Given the description of an element on the screen output the (x, y) to click on. 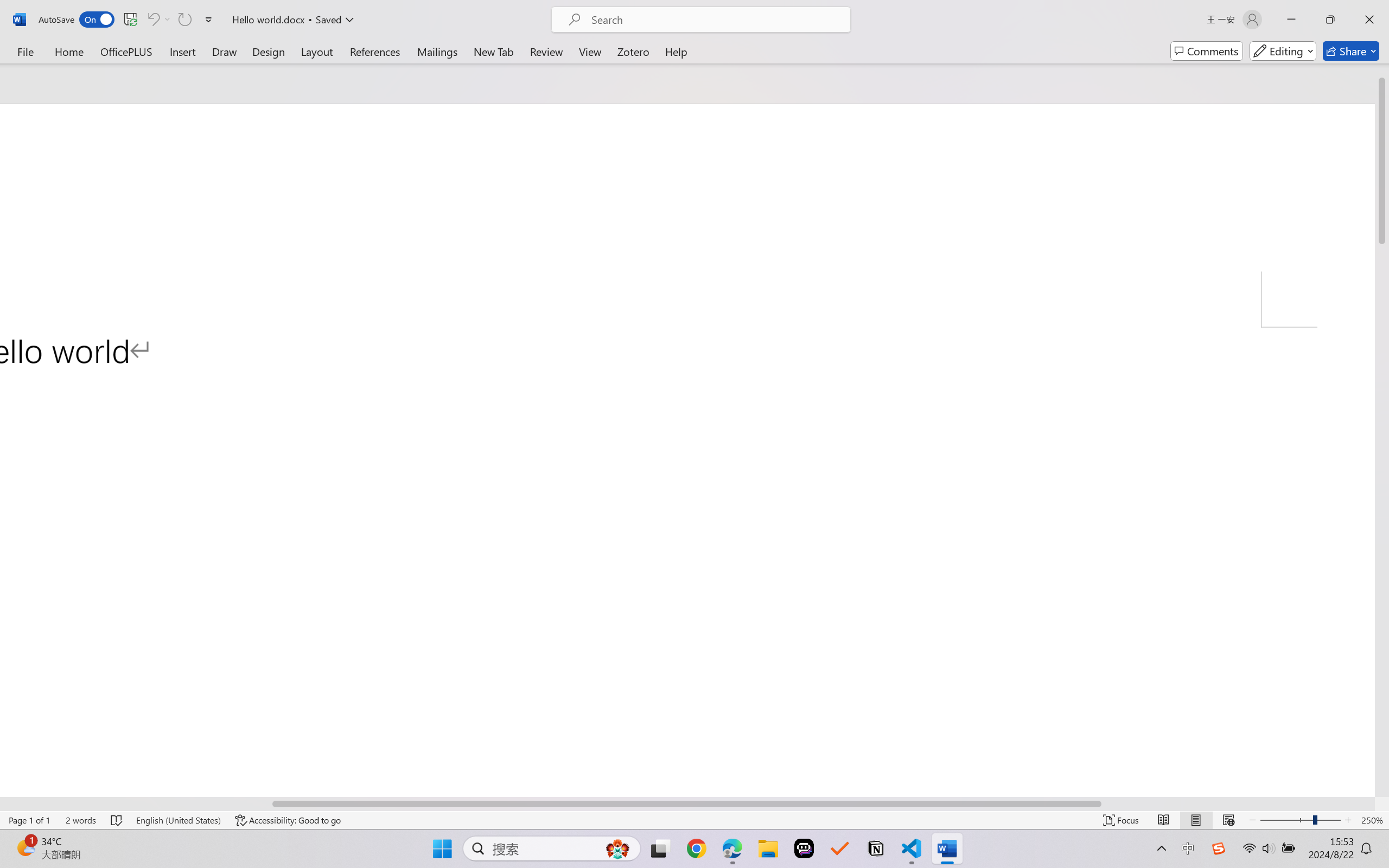
Save (130, 19)
Restore Down (1330, 19)
References (375, 51)
File Tab (24, 51)
Microsoft search (715, 19)
Zotero (632, 51)
Web Layout (1228, 819)
Class: NetUIScrollBar (687, 803)
Class: Image (1218, 847)
Language English (United States) (178, 819)
Accessibility Checker Accessibility: Good to go (288, 819)
Spelling and Grammar Check No Errors (117, 819)
Focus  (1121, 819)
Layout (316, 51)
